Given the description of an element on the screen output the (x, y) to click on. 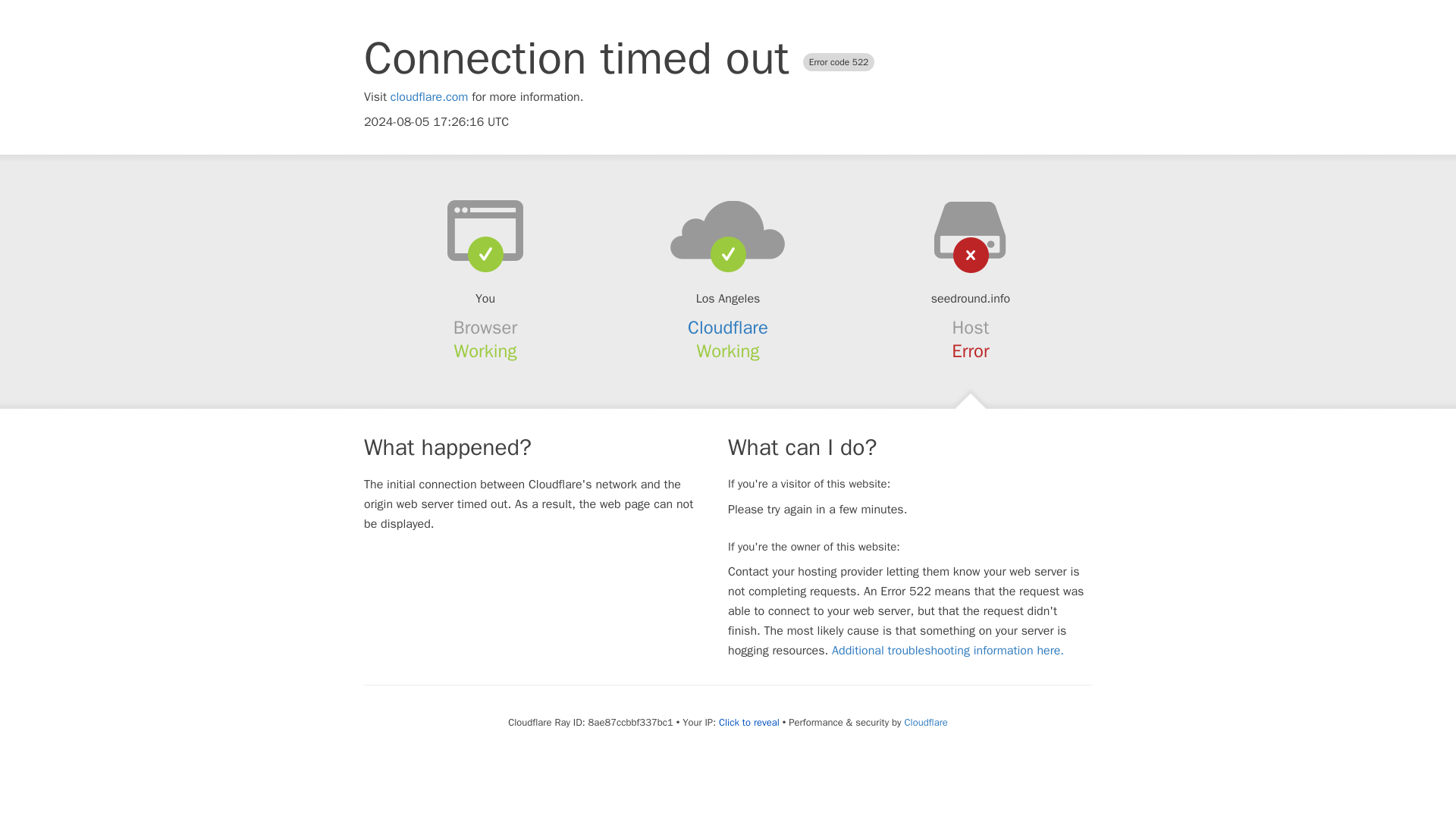
Cloudflare (727, 327)
cloudflare.com (429, 96)
Click to reveal (748, 722)
Cloudflare (925, 721)
Additional troubleshooting information here. (947, 650)
